Given the description of an element on the screen output the (x, y) to click on. 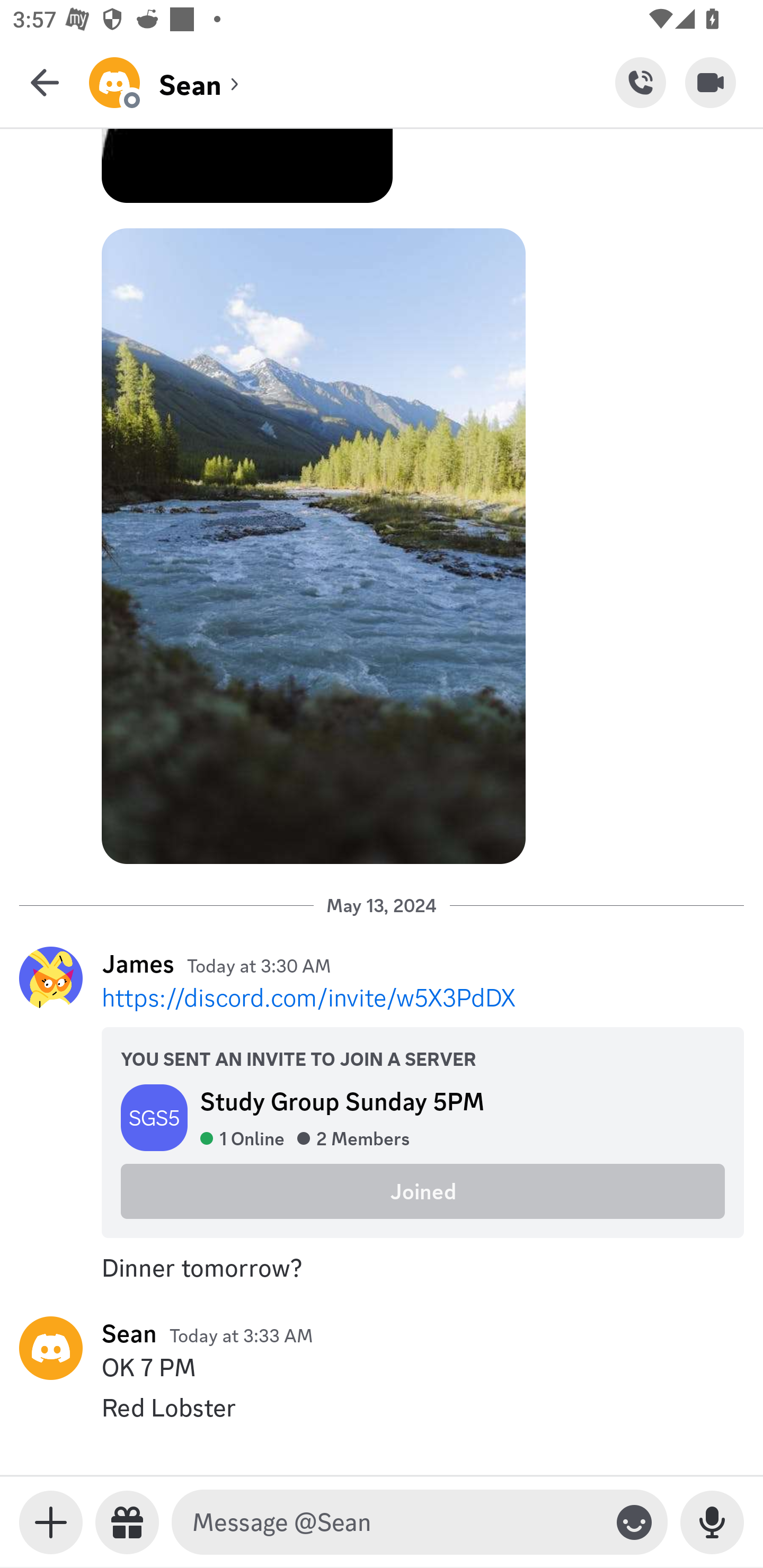
Sean (channel) Sean Sean (channel) (351, 82)
Back (44, 82)
Start Voice Call (640, 82)
Start Video Call (710, 82)
James (137, 963)
Joined (422, 1190)
ssseannn007., Dinner tomorrow? Dinner tomorrow? (381, 1267)
Sean (129, 1333)
yuxiang.007, Red Lobster Red Lobster (381, 1406)
Toggle media keyboard (50, 1522)
Send a gift (126, 1522)
Record Voice Message (711, 1522)
Message @Sean (395, 1522)
Toggle emoji keyboard (634, 1522)
